Given the description of an element on the screen output the (x, y) to click on. 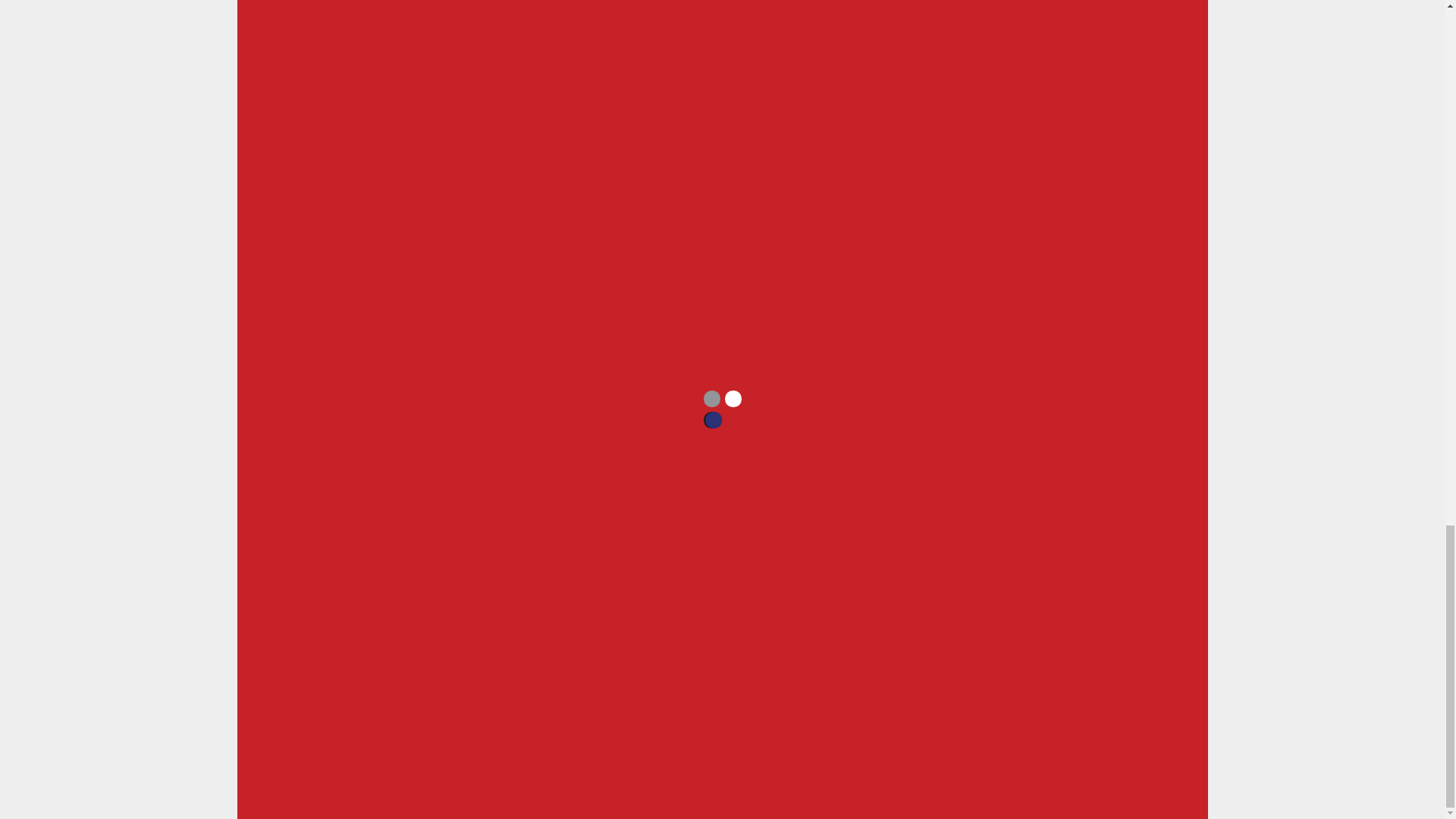
Subscribe (656, 649)
Privacy Policy  (685, 686)
Terms and Conditions  (861, 686)
Cookie Policy  (762, 686)
